Given the description of an element on the screen output the (x, y) to click on. 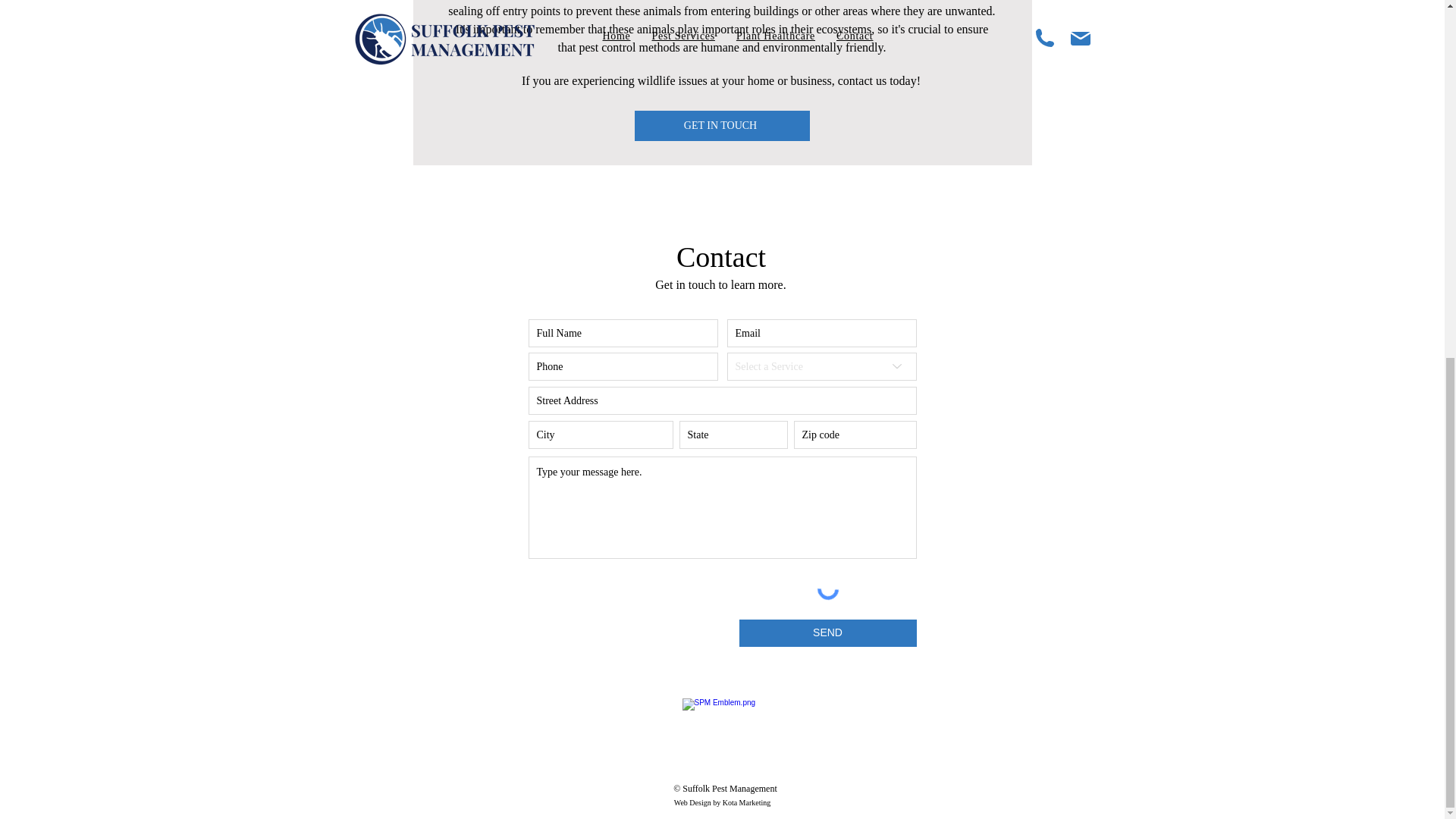
Web Design by Kota Marketing (722, 802)
SEND (826, 633)
GET IN TOUCH (721, 125)
